Given the description of an element on the screen output the (x, y) to click on. 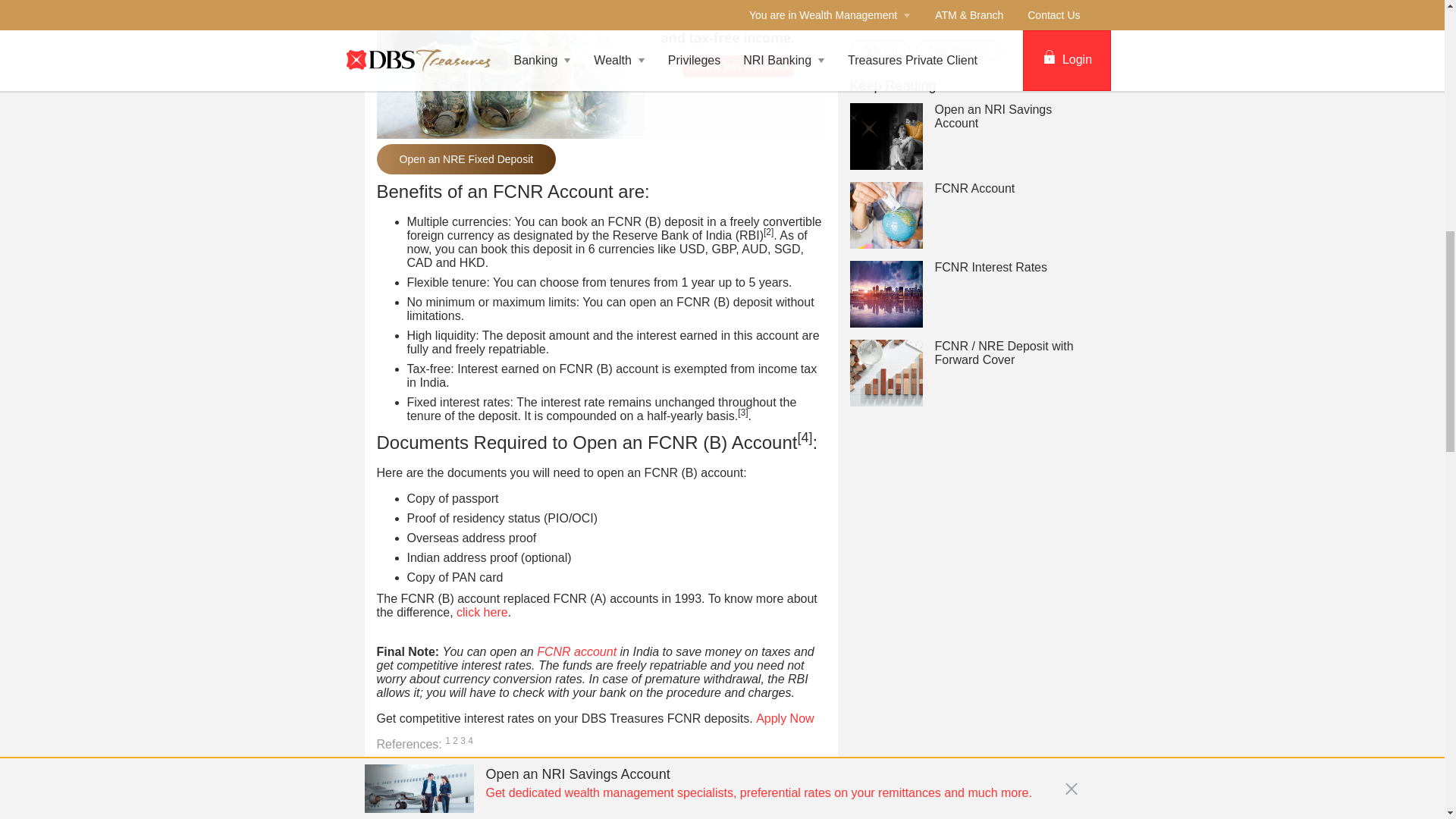
Open an NRE Fixed Deposit (465, 159)
Click here (482, 612)
FCNR account (576, 651)
Join DBS Treasures (600, 797)
Join DBS Treasures (600, 69)
Join DBS Treasures (784, 717)
Choose DBS Treasures (600, 37)
